Given the description of an element on the screen output the (x, y) to click on. 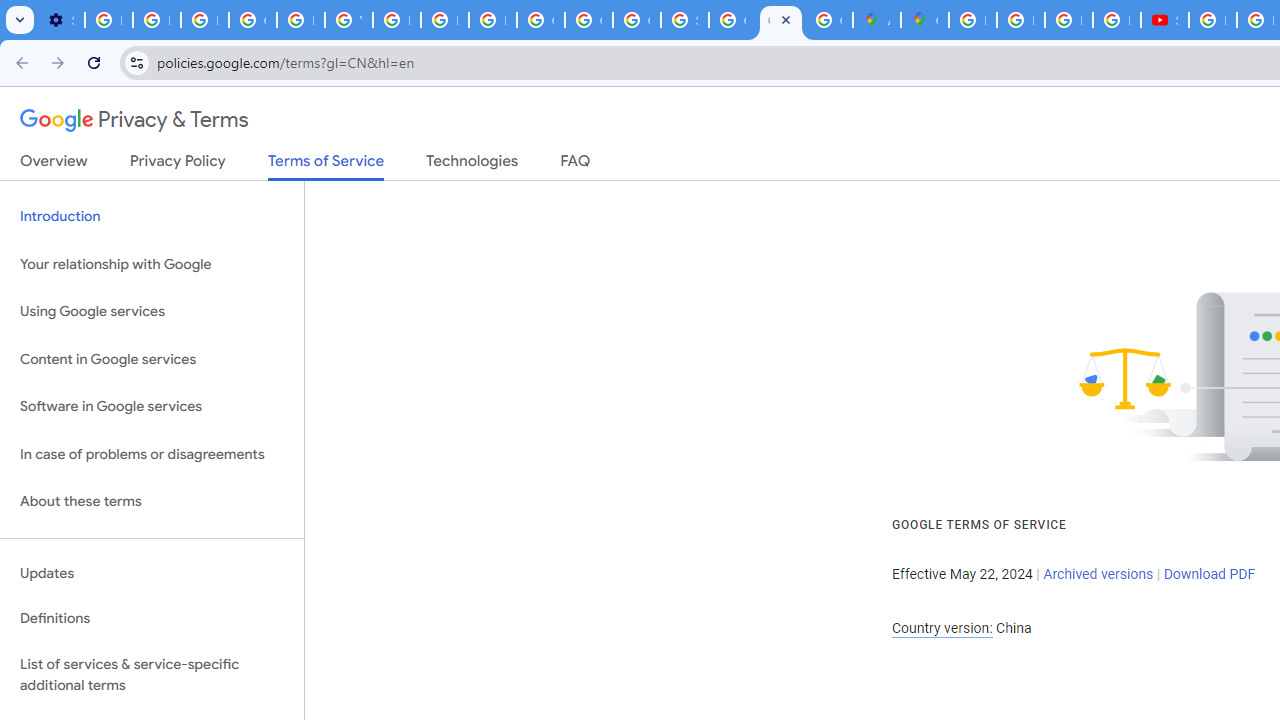
Blogger Policies and Guidelines - Transparency Center (972, 20)
Settings - Customize profile (60, 20)
Google Maps (924, 20)
